Given the description of an element on the screen output the (x, y) to click on. 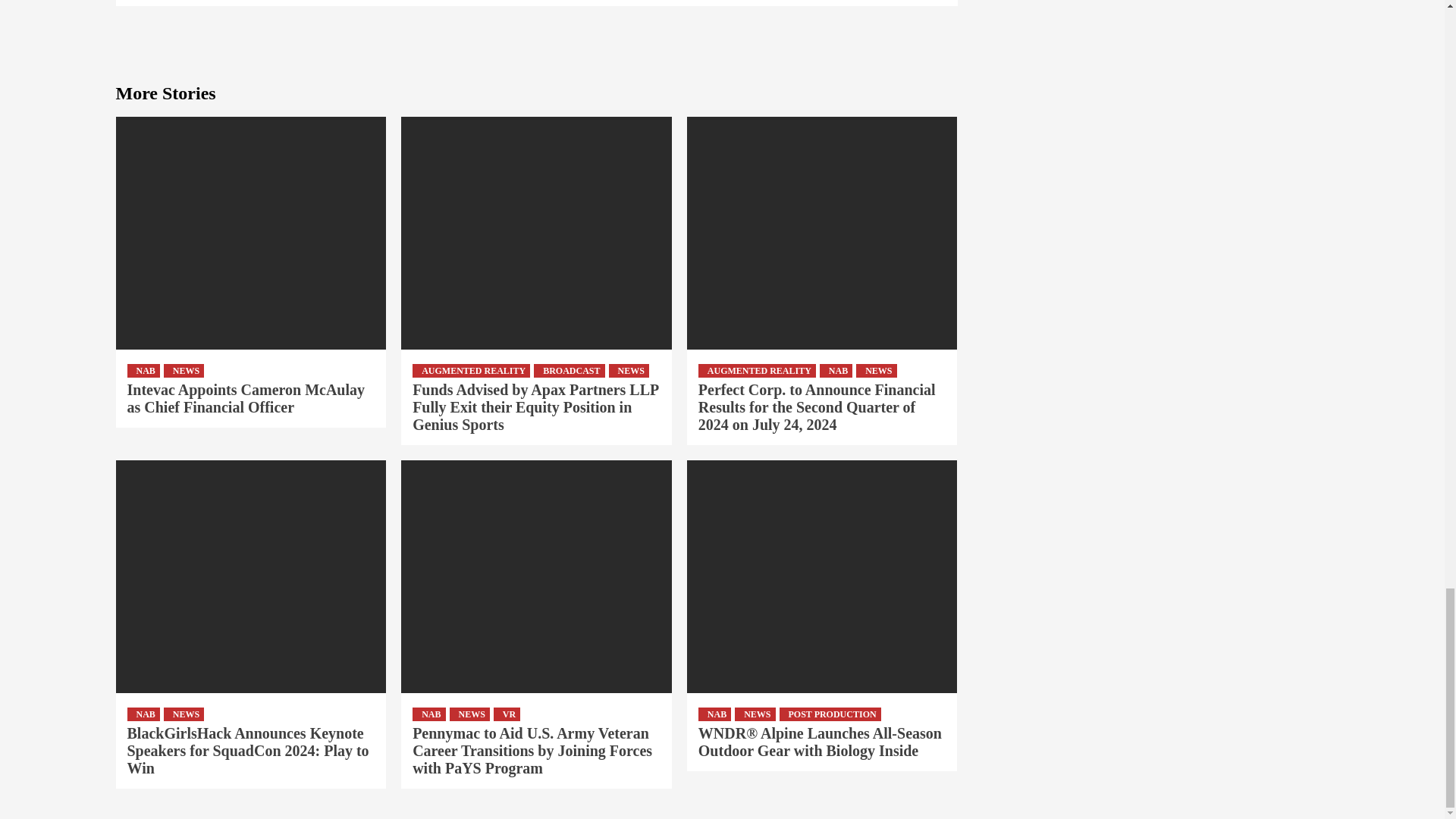
Intevac Appoints Cameron McAulay as Chief Financial Officer (246, 398)
AUGMENTED REALITY (470, 370)
NAB (144, 370)
BROADCAST (569, 370)
NEWS (183, 370)
